Given the description of an element on the screen output the (x, y) to click on. 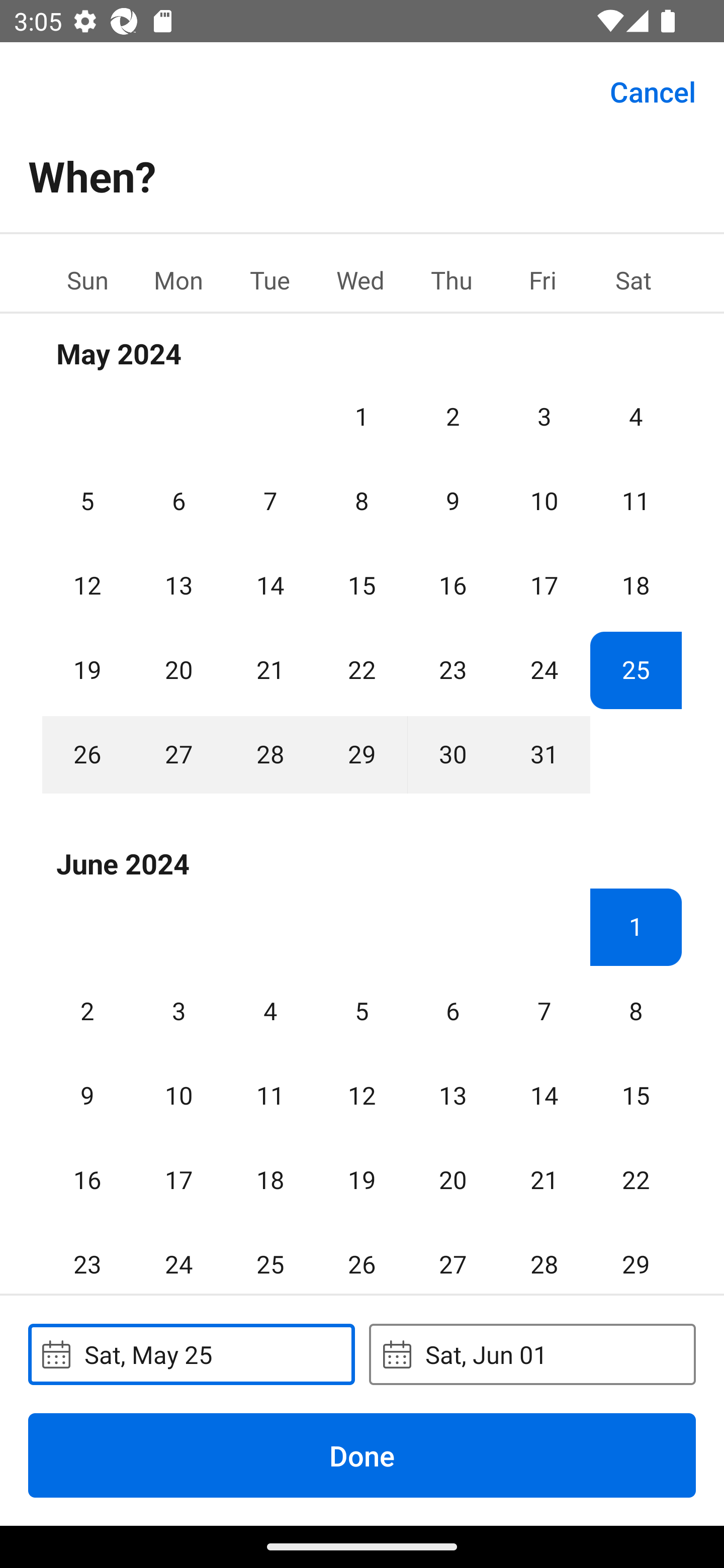
Cancel (652, 90)
Sat, May 25 (191, 1353)
Sat, Jun 01 (532, 1353)
Done (361, 1454)
